Given the description of an element on the screen output the (x, y) to click on. 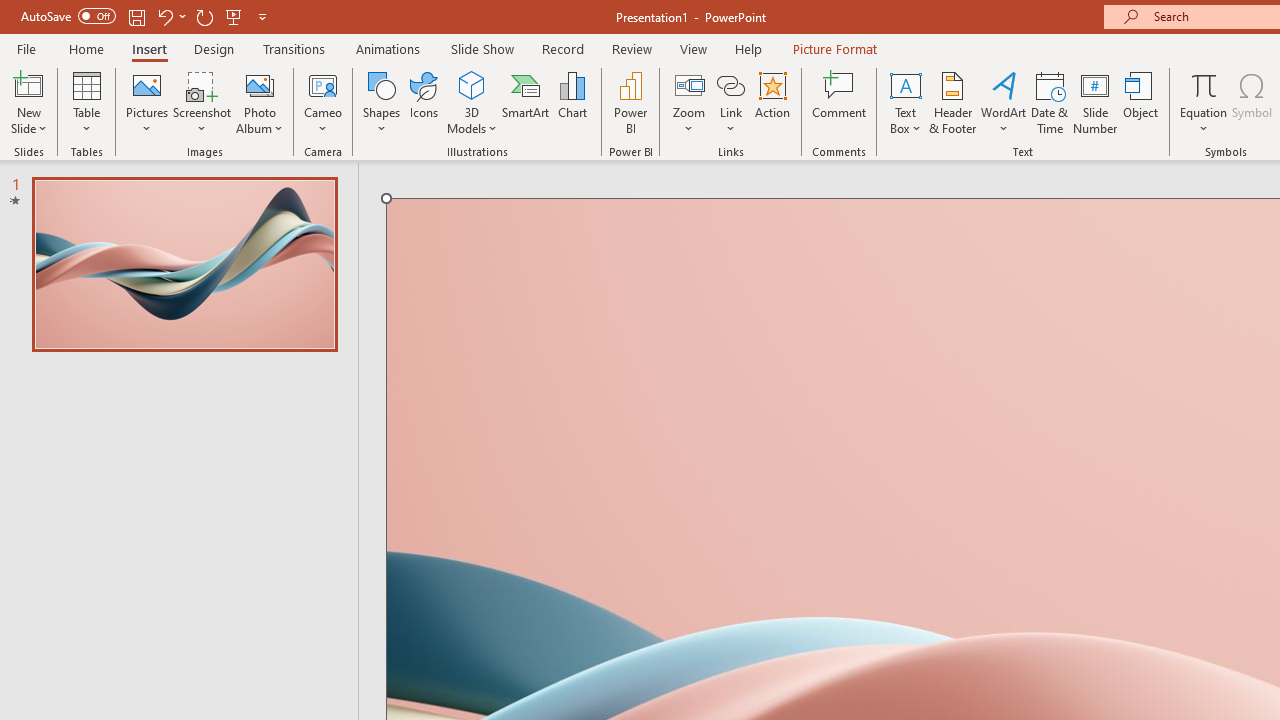
Chart... (572, 102)
SmartArt... (525, 102)
